Given the description of an element on the screen output the (x, y) to click on. 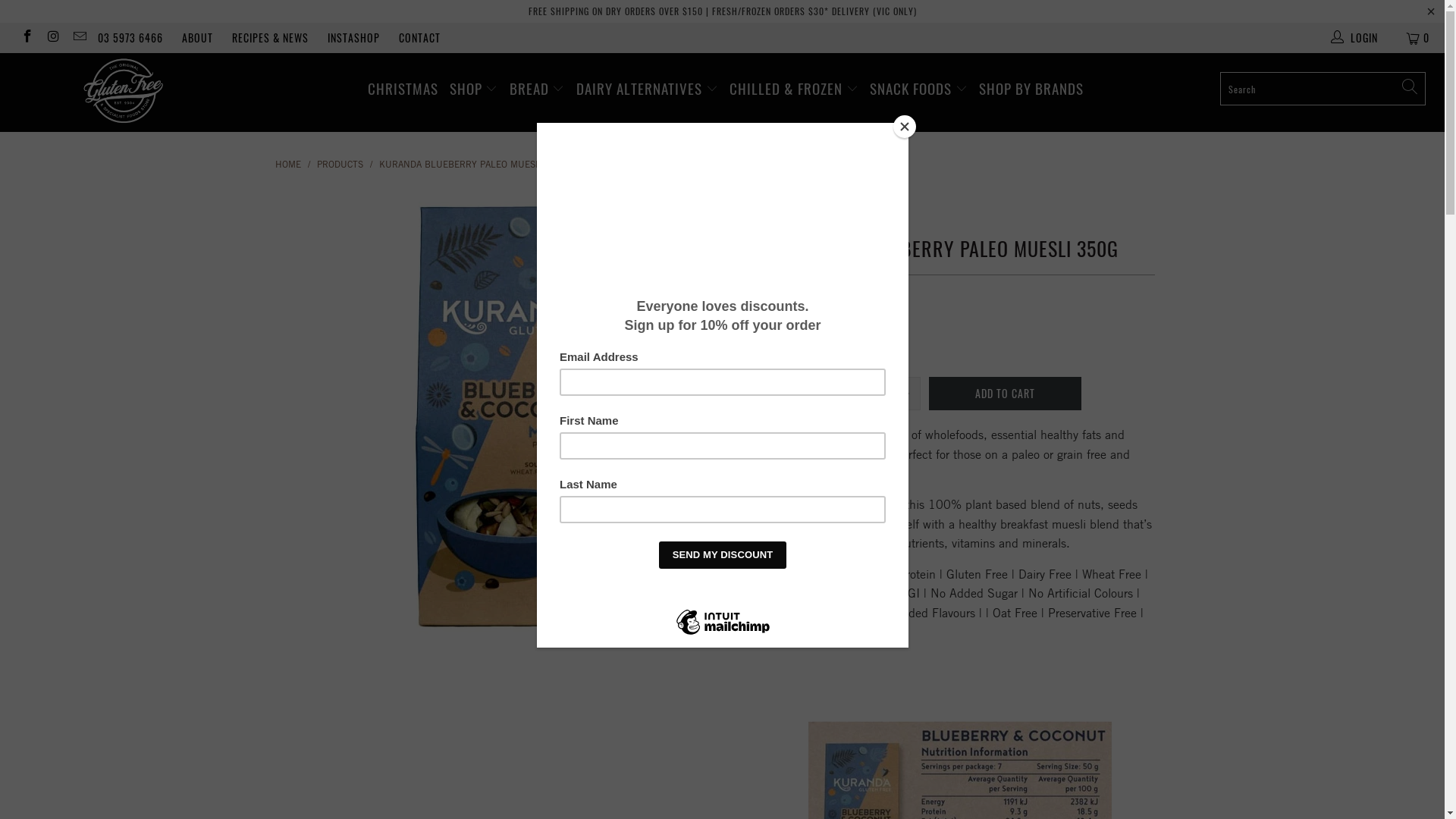
ADD TO CART Element type: text (1004, 393)
03 5973 6466 Element type: text (130, 37)
LOGIN Element type: text (1355, 37)
DAIRY ALTERNATIVES Element type: text (647, 88)
SNACK FOODS Element type: text (918, 88)
Email Gluten Free Foods Element type: hover (78, 37)
ABOUT Element type: text (197, 37)
Gluten Free Foods on Instagram Element type: hover (52, 37)
CONTACT Element type: text (419, 37)
SHOP BY BRANDS Element type: text (1031, 88)
INSTASHOP Element type: text (353, 37)
RECIPES & NEWS Element type: text (270, 37)
0 Element type: text (1418, 37)
SHOP Element type: text (472, 88)
BREAD Element type: text (536, 88)
CHRISTMAS Element type: text (402, 88)
KURANDA BLUEBERRY PALEO MUESLI 350G Element type: text (473, 163)
HOME Element type: text (287, 163)
Gluten Free Foods Element type: hover (123, 92)
Gluten Free Foods on Facebook Element type: hover (26, 37)
CHILLED & FROZEN Element type: text (793, 88)
PRODUCTS Element type: text (341, 163)
